Given the description of an element on the screen output the (x, y) to click on. 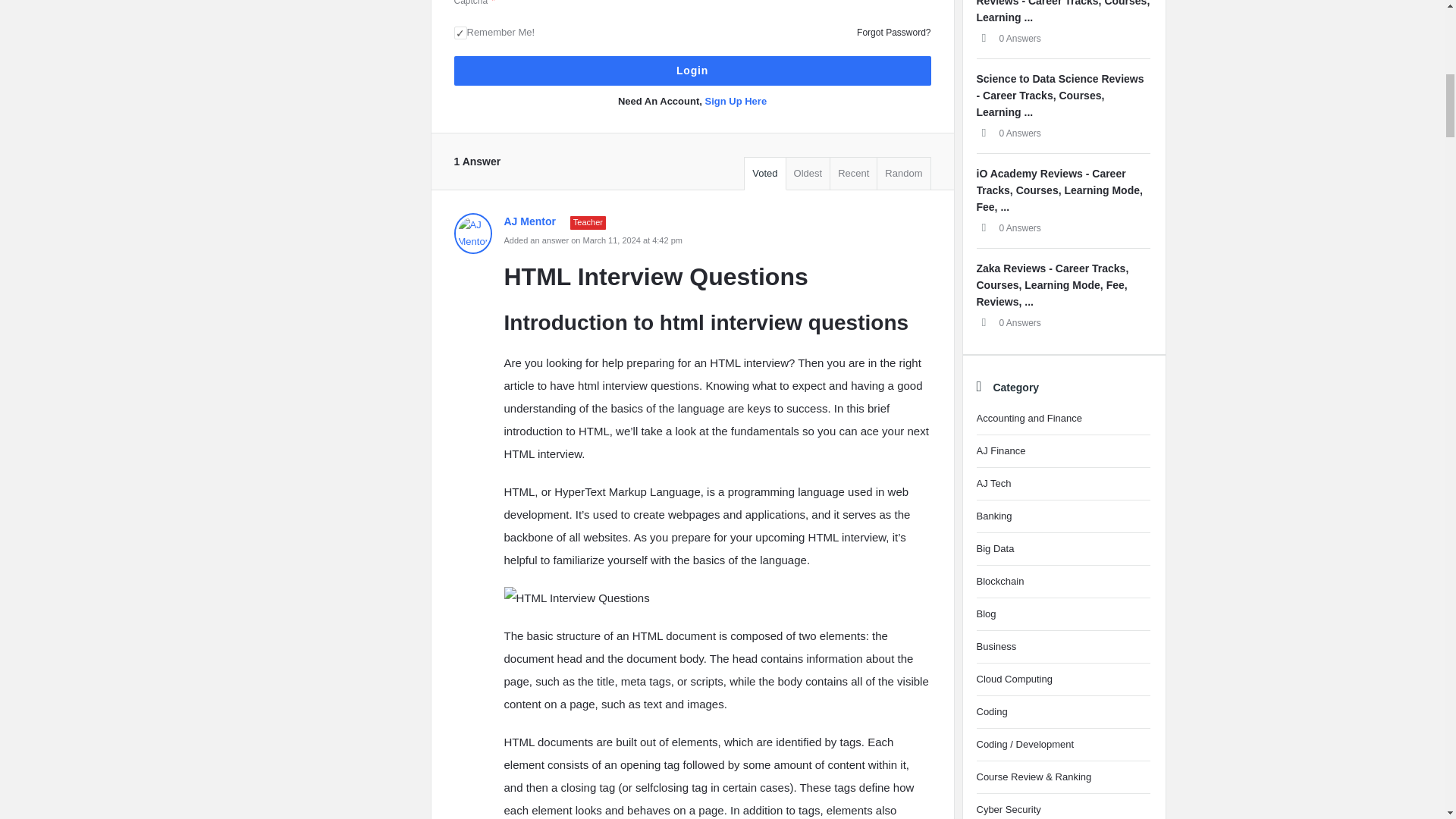
AJ Mentor (471, 233)
forever (458, 32)
Login (691, 70)
